Given the description of an element on the screen output the (x, y) to click on. 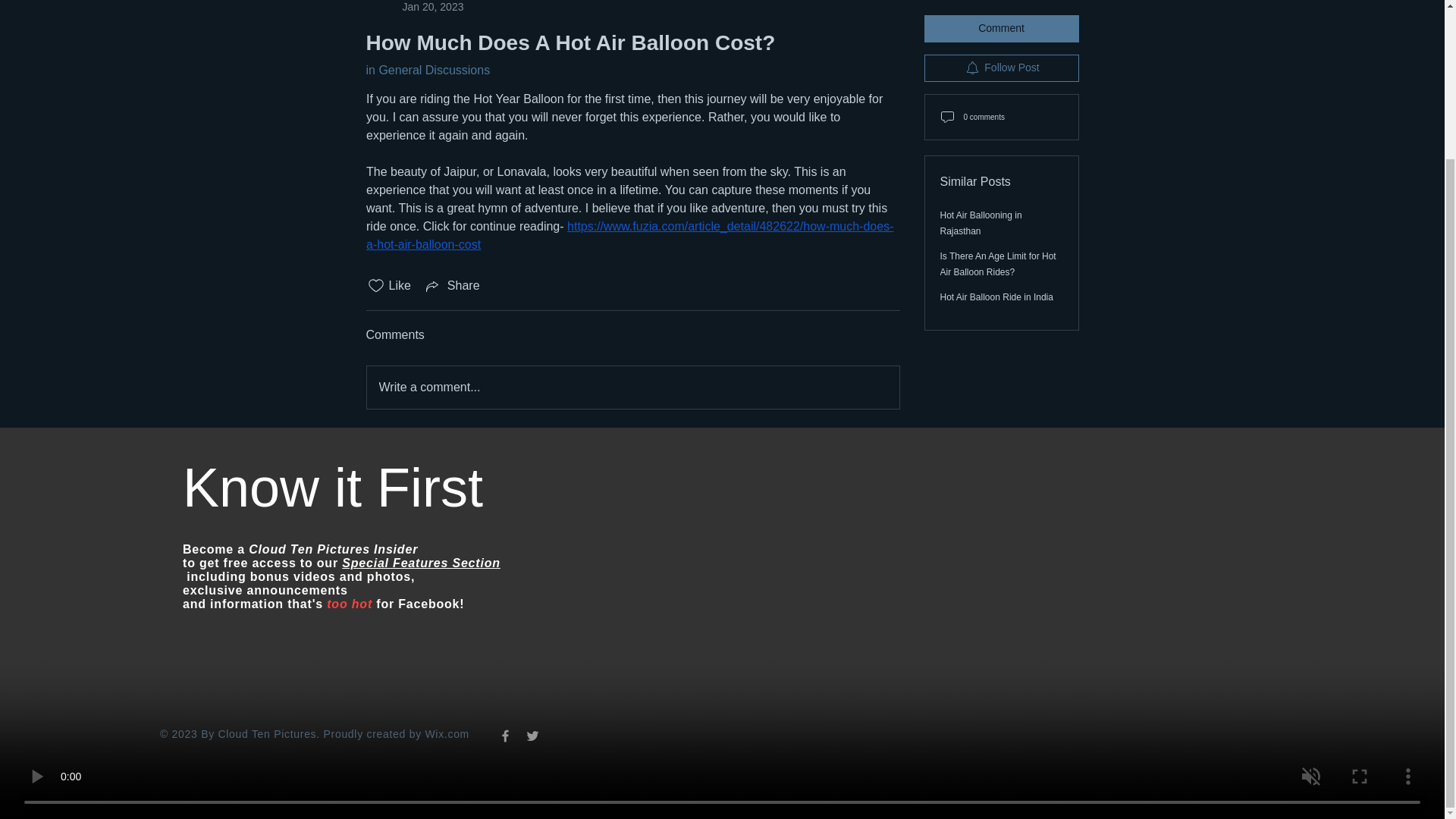
Share (451, 285)
Is There An Age Limit for Hot Air Balloon Rides? (998, 233)
Special Features Section (421, 562)
Hot Air Ballooning in Rajasthan (981, 192)
Wix.com (446, 734)
Hot Air Balloon Ride in India (996, 266)
Follow Post (1000, 36)
Comment (1000, 5)
in General Discussions (427, 69)
Write a comment... (414, 7)
